Given the description of an element on the screen output the (x, y) to click on. 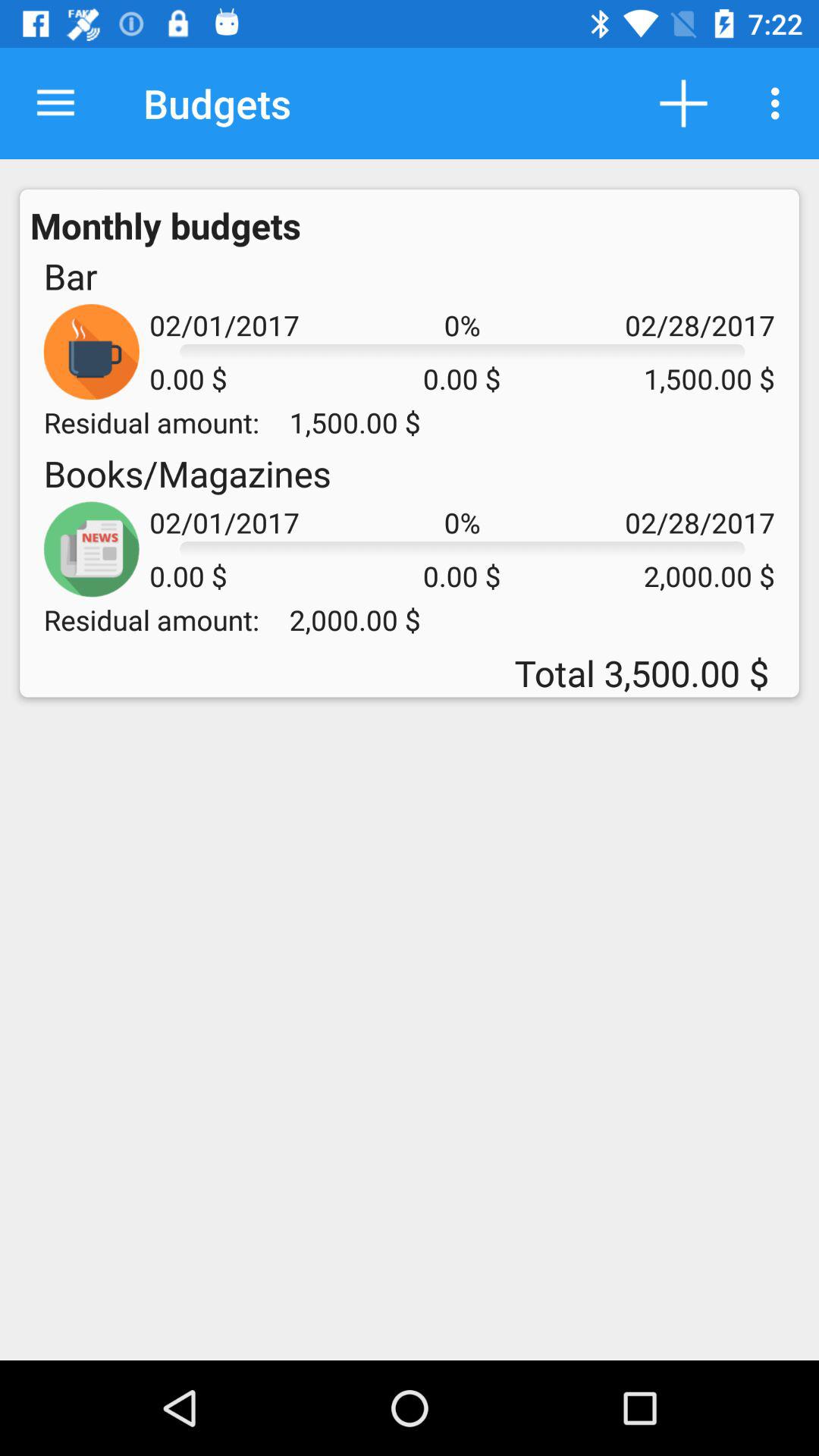
choose icon above the 02/28/2017 item (779, 103)
